Given the description of an element on the screen output the (x, y) to click on. 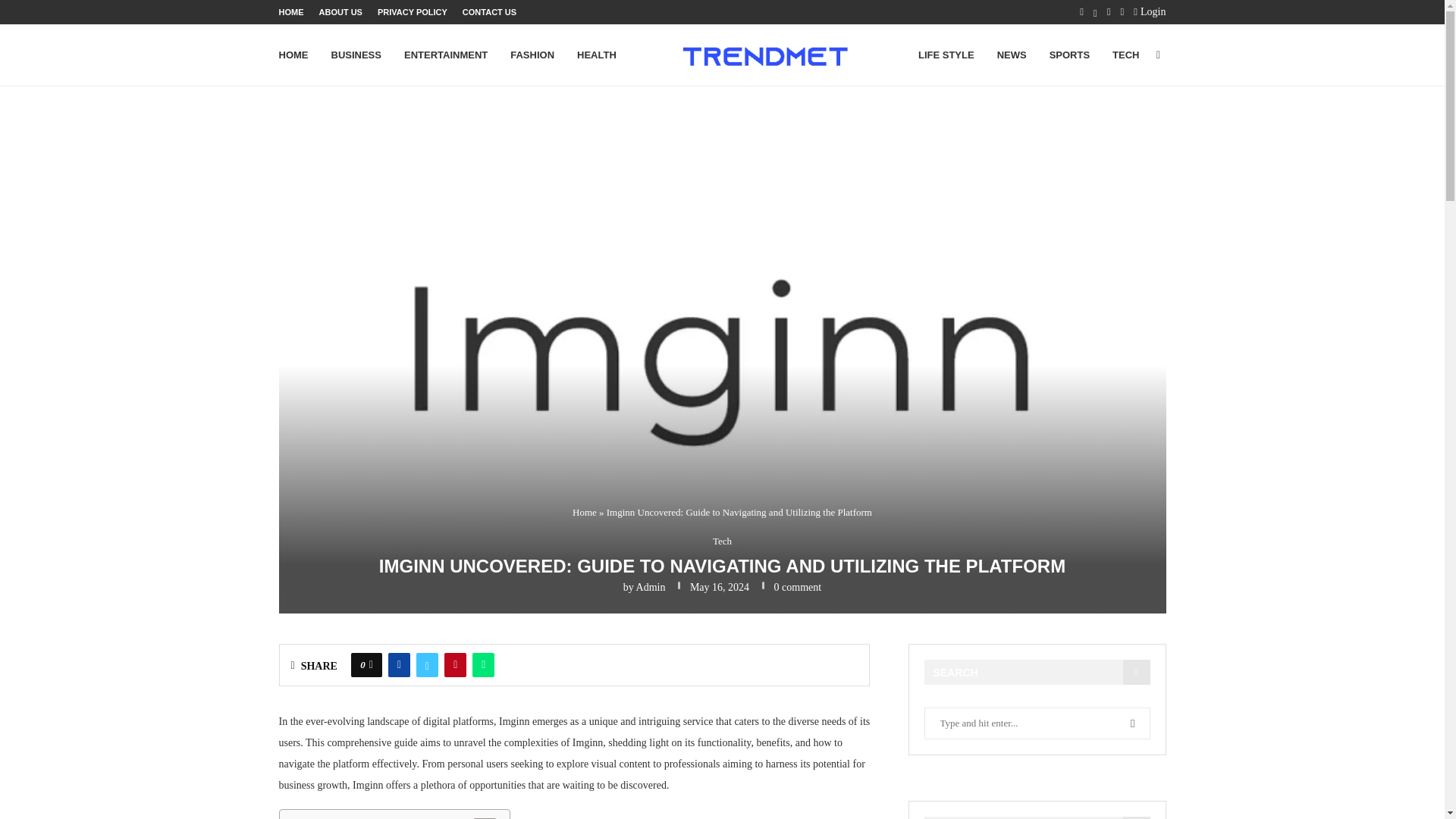
HOME (291, 12)
LIFE STYLE (946, 55)
CONTACT US (489, 12)
Home (584, 511)
PRIVACY POLICY (411, 12)
ENTERTAINMENT (445, 55)
Admin (650, 586)
Tech (722, 541)
Login (1150, 12)
ABOUT US (339, 12)
